Given the description of an element on the screen output the (x, y) to click on. 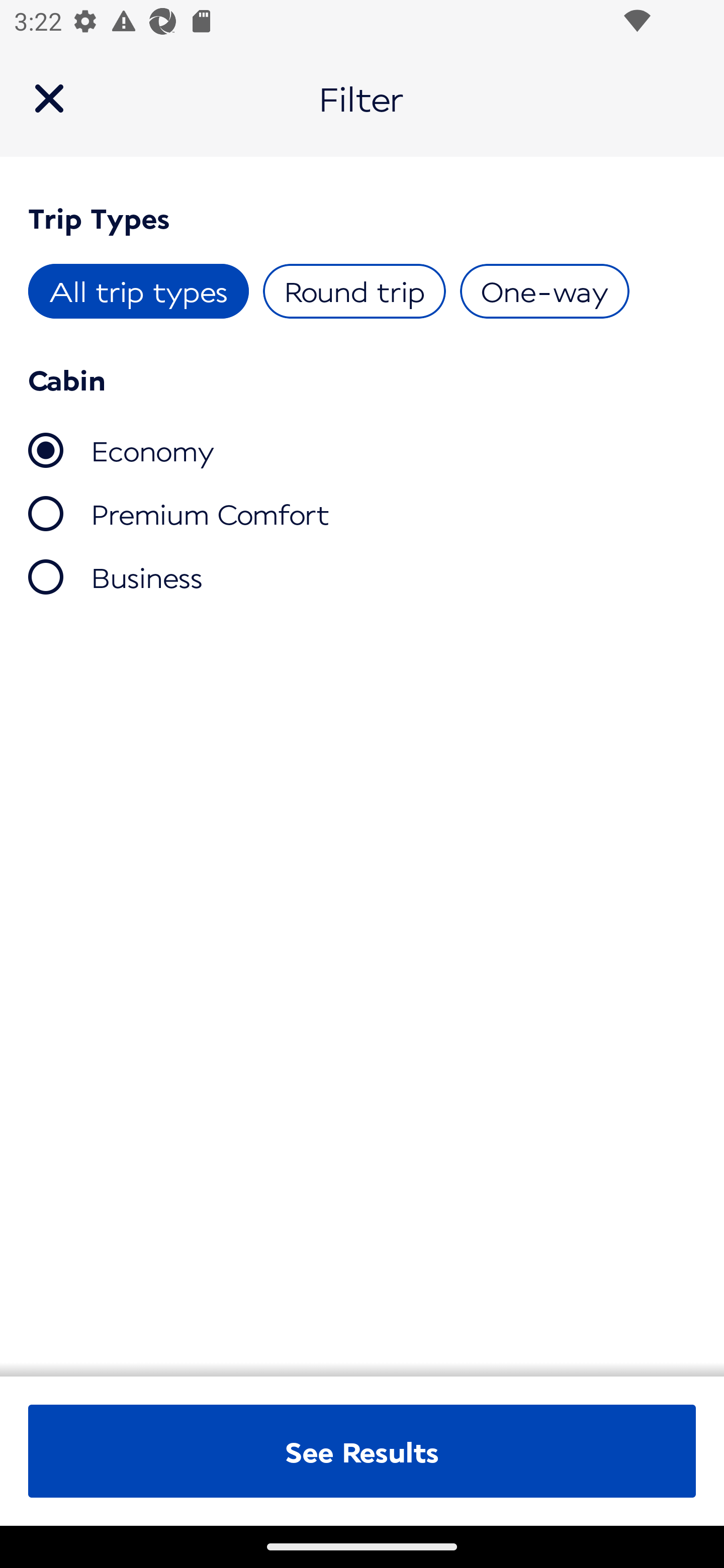
All trip types (138, 291)
Round trip (353, 291)
One-way (544, 291)
See Results (361, 1450)
